Given the description of an element on the screen output the (x, y) to click on. 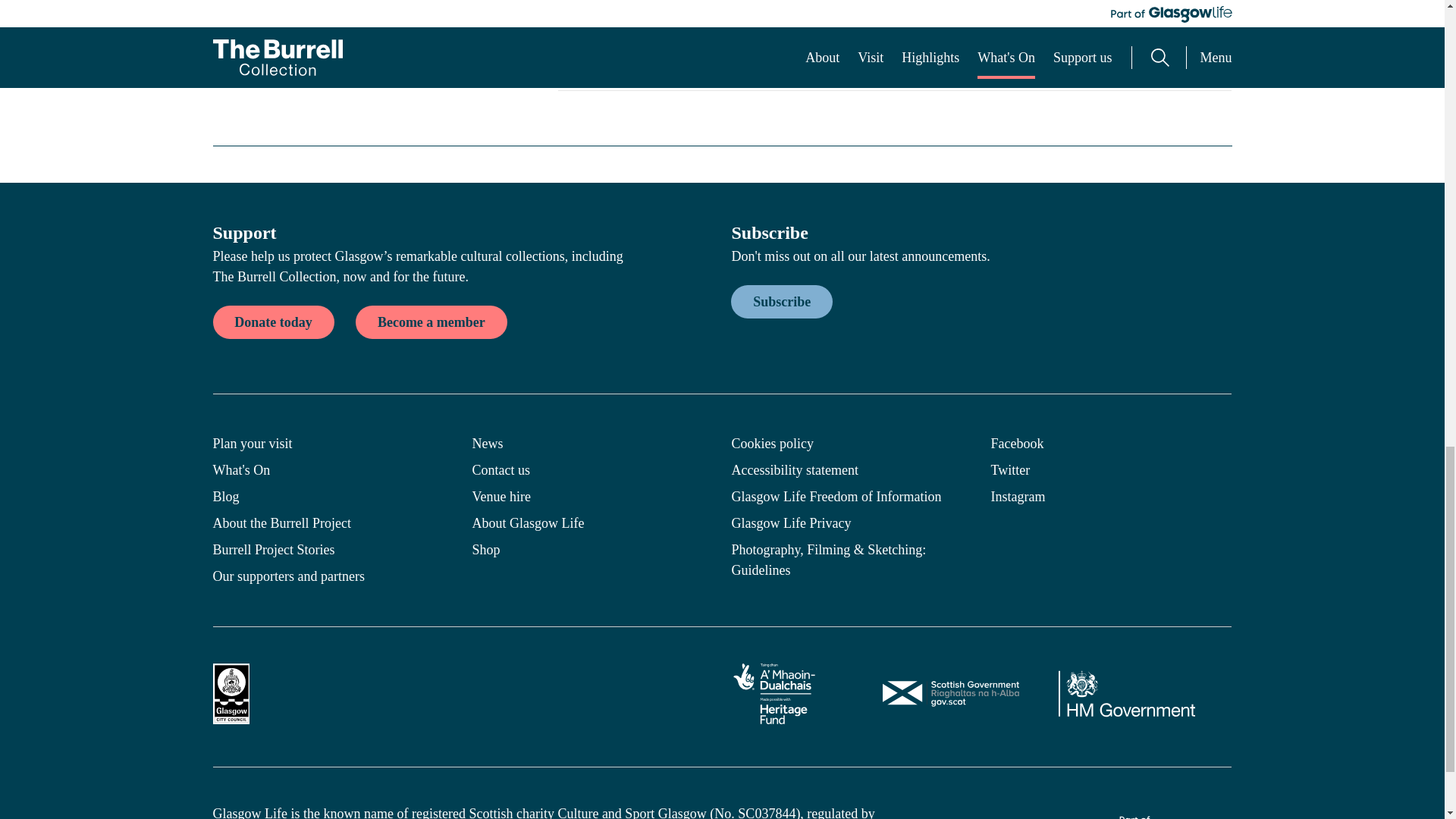
Subscribe (781, 302)
UK Goverment (1126, 693)
Donate today (272, 322)
Plan your visit (332, 443)
What's On (332, 470)
Blog (332, 497)
Become a member (430, 322)
Scottish Goverment (950, 693)
